Given the description of an element on the screen output the (x, y) to click on. 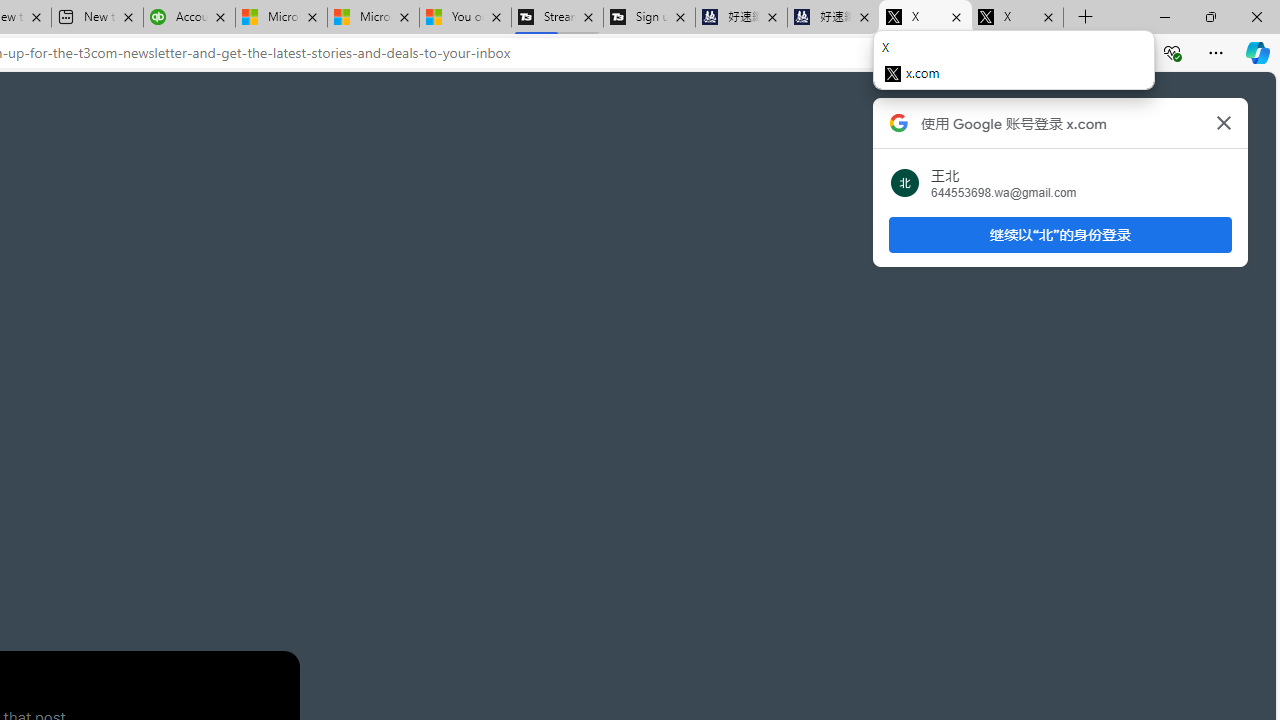
Shopping in Microsoft Edge (950, 53)
Class: Bz112c Bz112c-r9oPif (1224, 122)
